Given the description of an element on the screen output the (x, y) to click on. 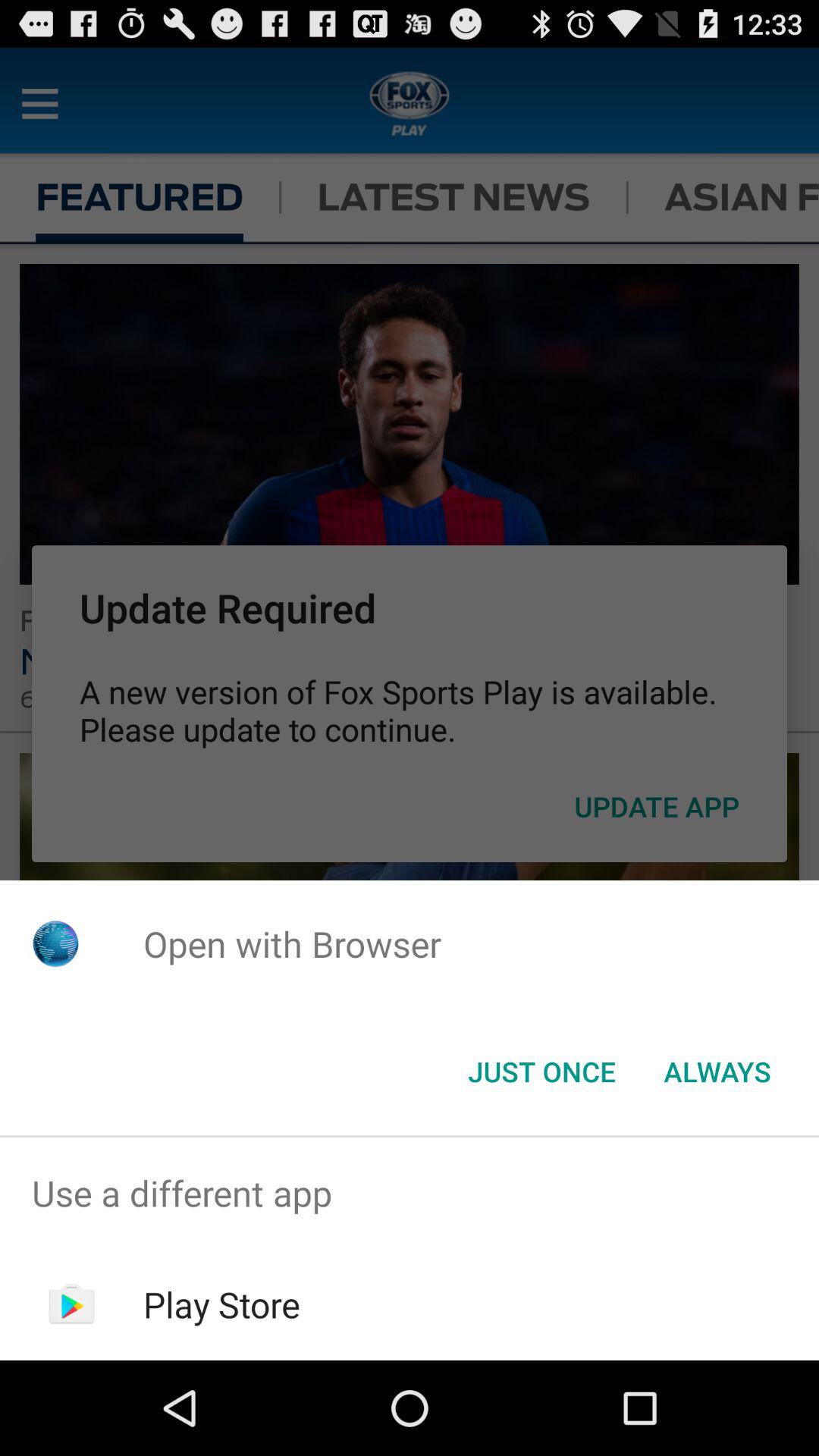
select always button (717, 1071)
